Given the description of an element on the screen output the (x, y) to click on. 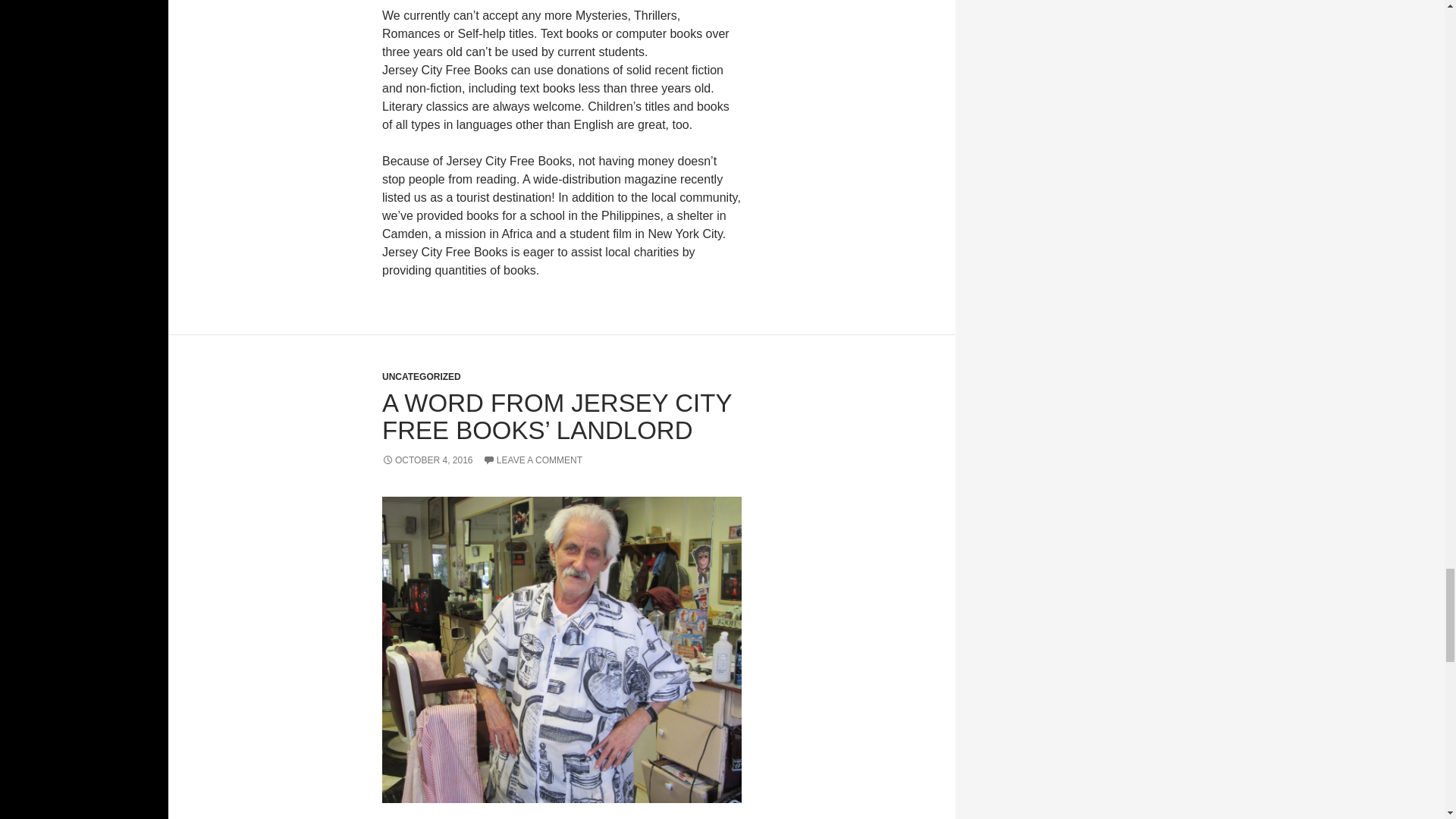
LEAVE A COMMENT (532, 460)
OCTOBER 4, 2016 (427, 460)
UNCATEGORIZED (421, 376)
